Given the description of an element on the screen output the (x, y) to click on. 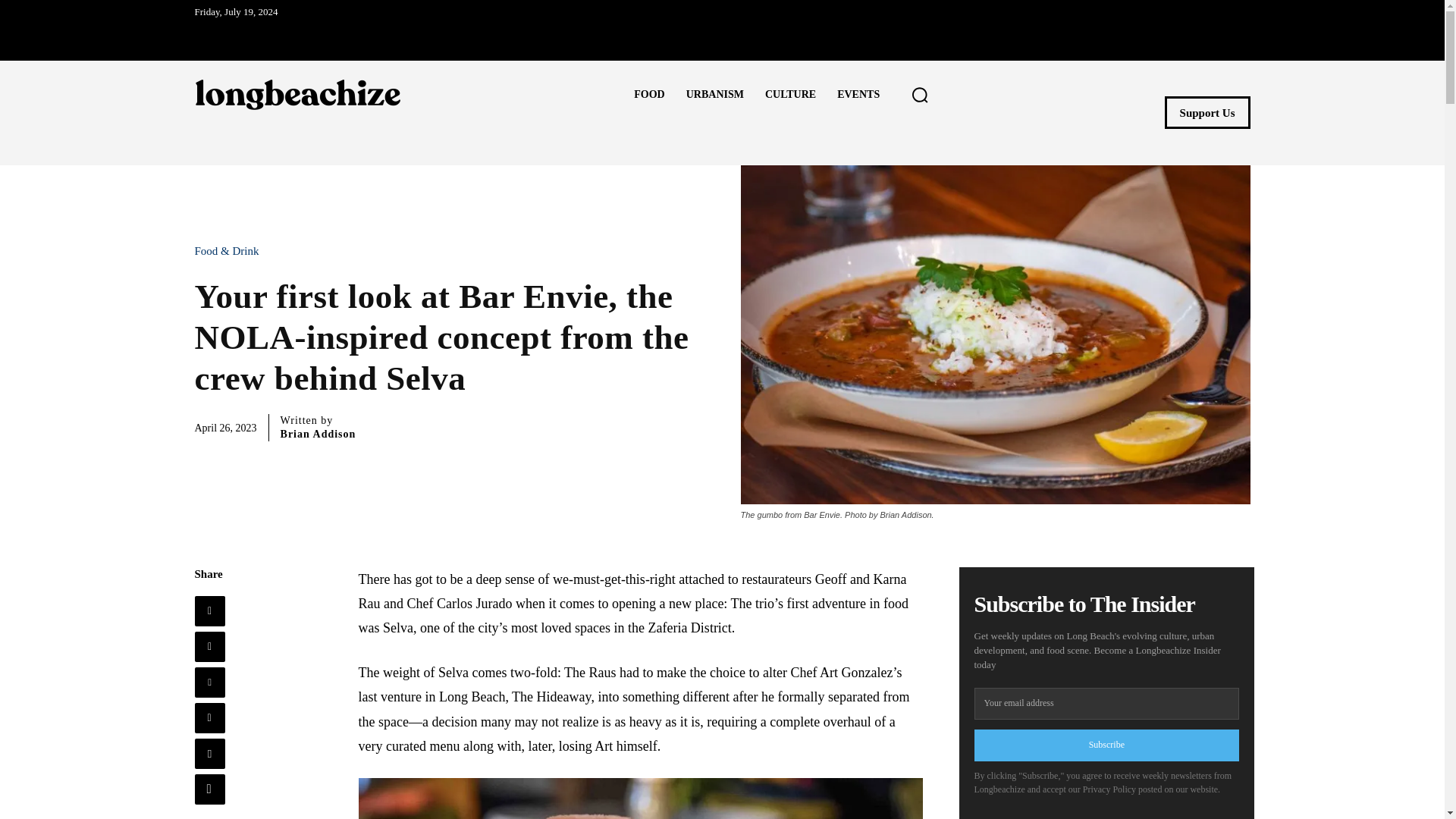
URBANISM (714, 94)
EVENTS (858, 94)
CULTURE (790, 94)
Longbeachize - Your Guide to Everything Long Beach (296, 94)
